Given the description of an element on the screen output the (x, y) to click on. 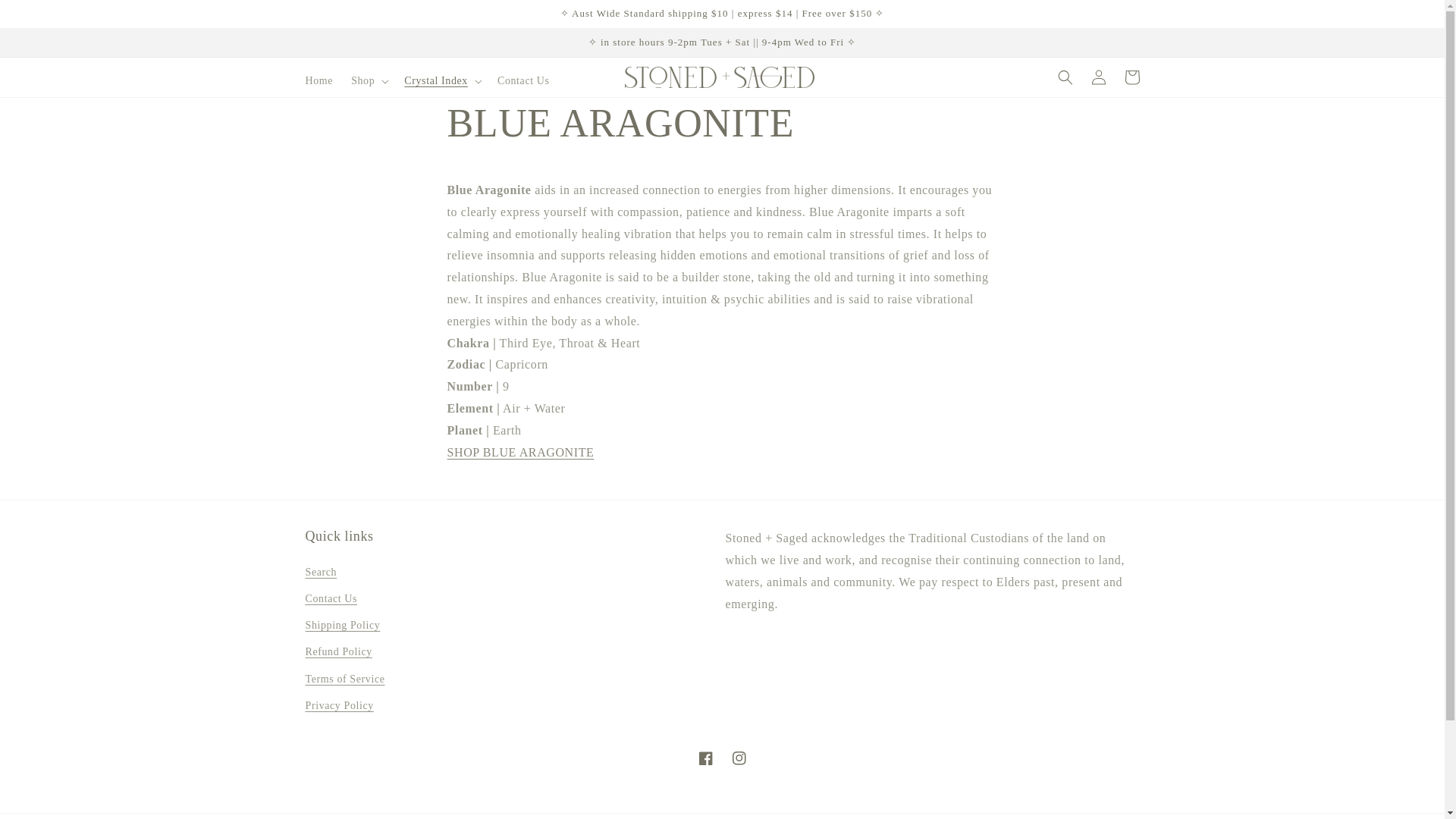
Skip to content (45, 17)
Blue Aragonite meaning (520, 451)
